Given the description of an element on the screen output the (x, y) to click on. 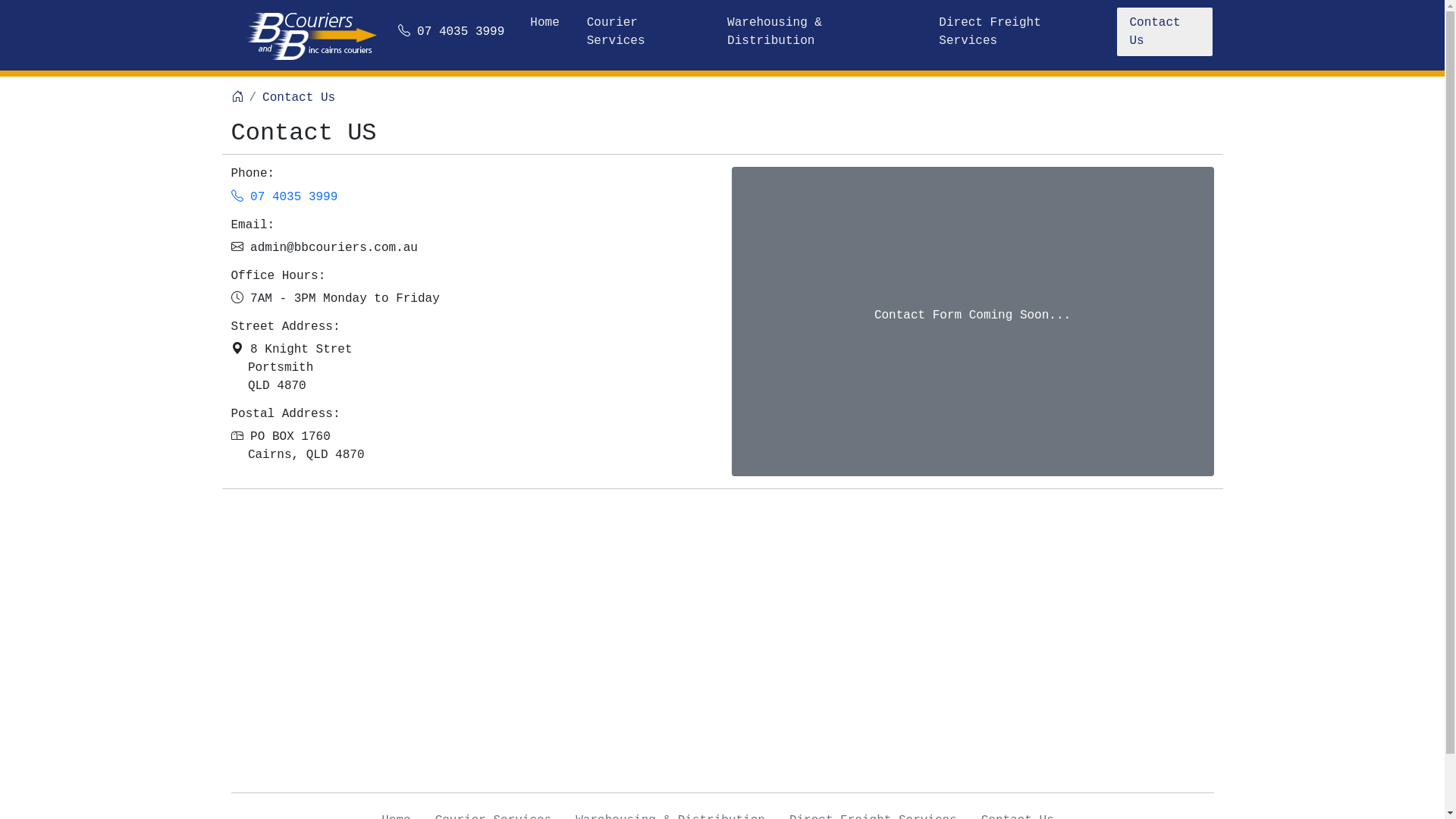
Home Element type: text (544, 22)
Warehousing & Distribution Element type: text (819, 31)
Direct Freight Services Element type: text (1020, 31)
07 4035 3999 Element type: text (450, 31)
Contact Us Element type: text (298, 97)
Contact Us Element type: text (1164, 31)
07 4035 3999 Element type: text (283, 196)
Courier Services Element type: text (643, 31)
